Given the description of an element on the screen output the (x, y) to click on. 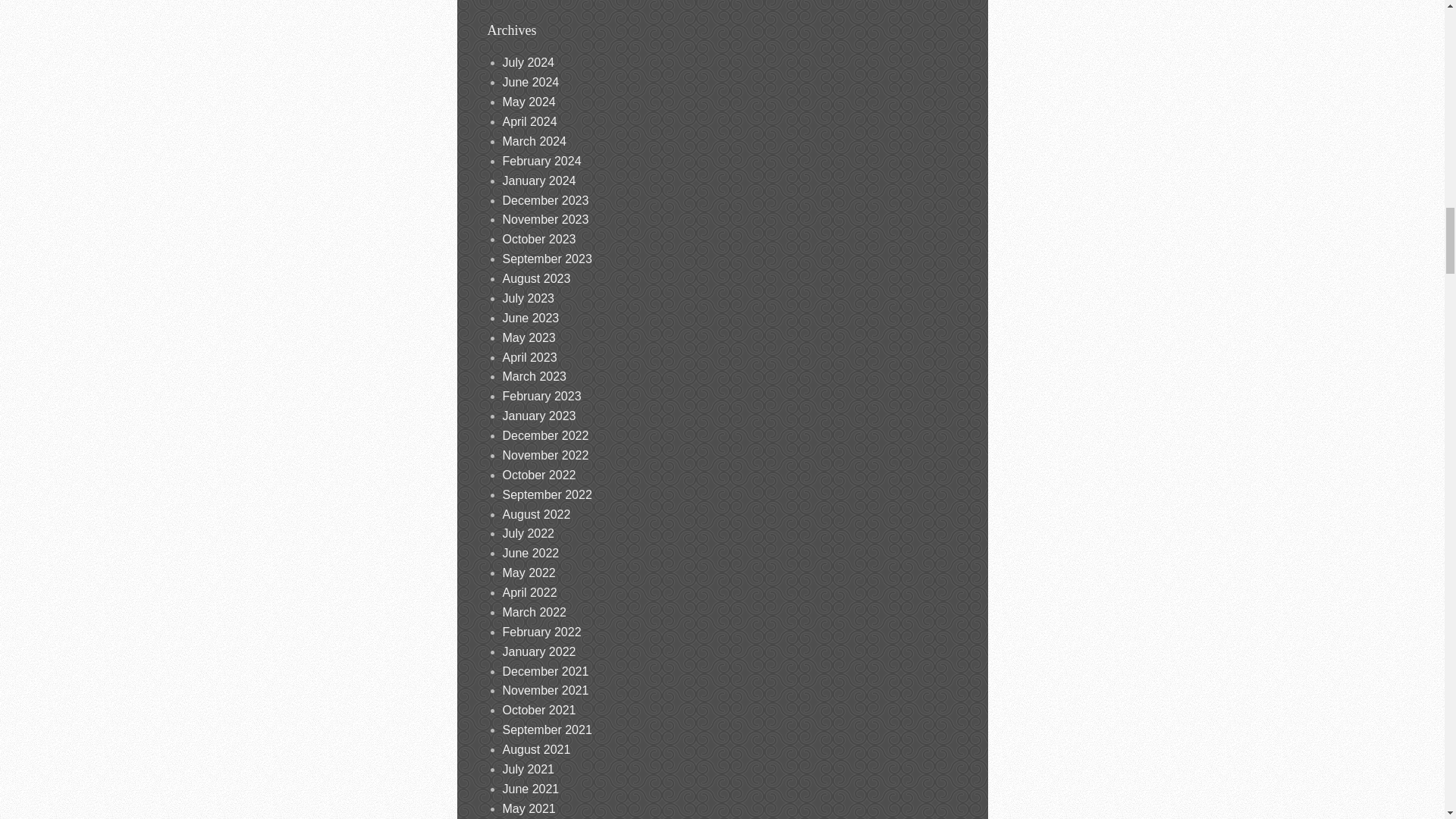
June 2023 (530, 318)
July 2023 (528, 297)
October 2023 (538, 238)
June 2024 (530, 82)
January 2024 (538, 180)
December 2023 (545, 200)
July 2024 (528, 62)
May 2024 (528, 101)
November 2023 (545, 219)
August 2023 (536, 278)
March 2024 (534, 141)
September 2023 (546, 258)
February 2024 (541, 160)
April 2023 (529, 357)
May 2023 (528, 337)
